Given the description of an element on the screen output the (x, y) to click on. 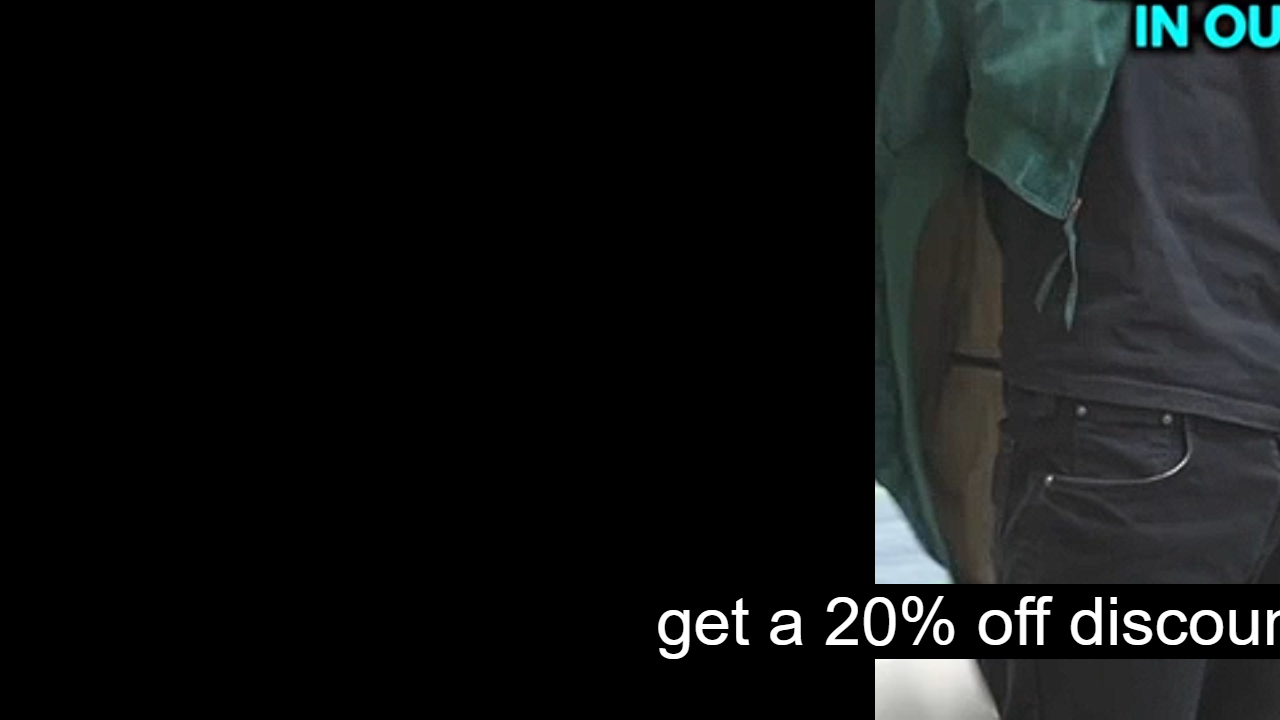
Seek Back (69, 697)
Seek Forward (109, 697)
Pause (29, 697)
